Given the description of an element on the screen output the (x, y) to click on. 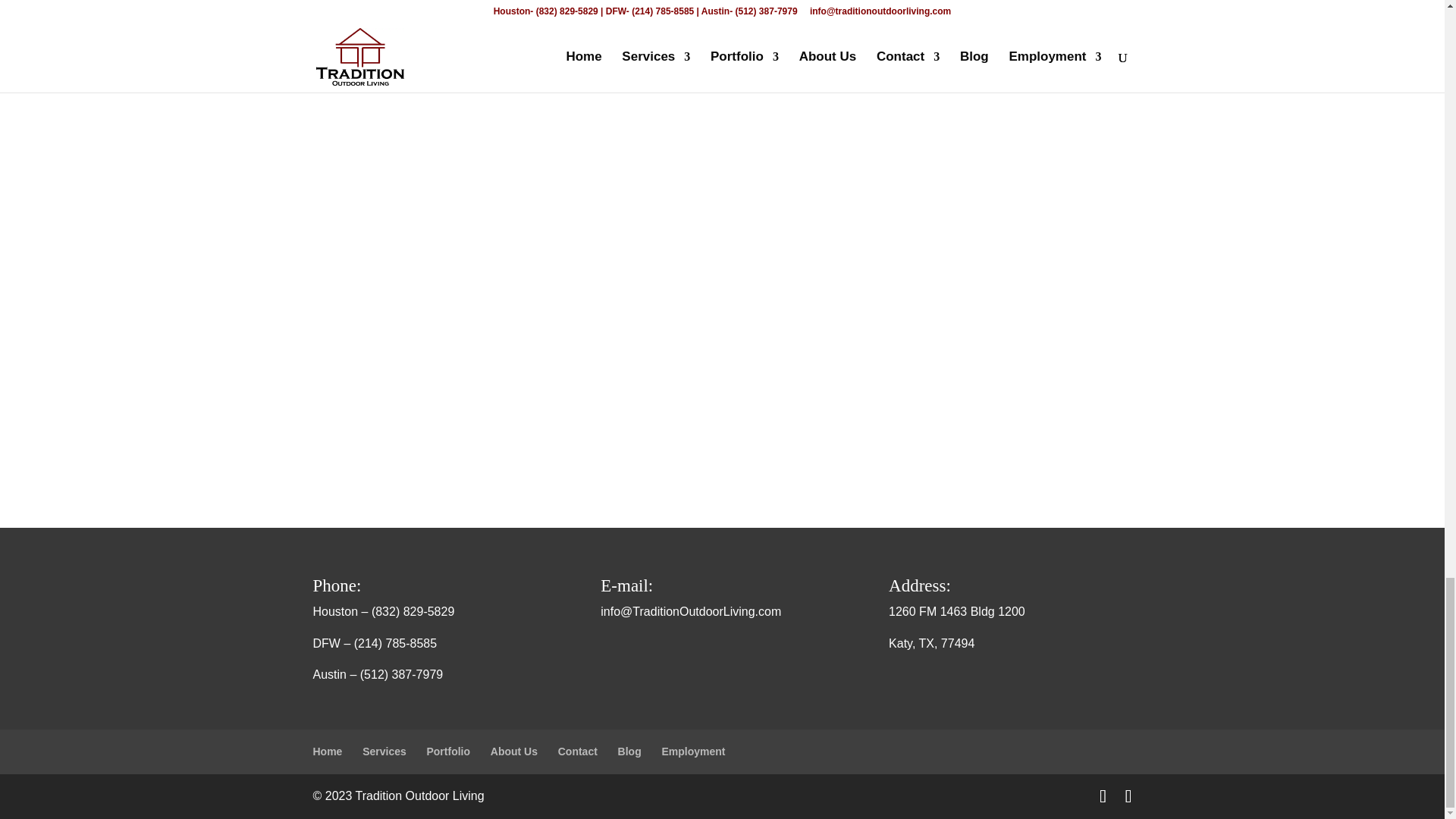
Portfolio (448, 751)
Contact (576, 751)
Employment (693, 751)
Blog (629, 751)
Services (384, 751)
Home (327, 751)
About Us (513, 751)
